Given the description of an element on the screen output the (x, y) to click on. 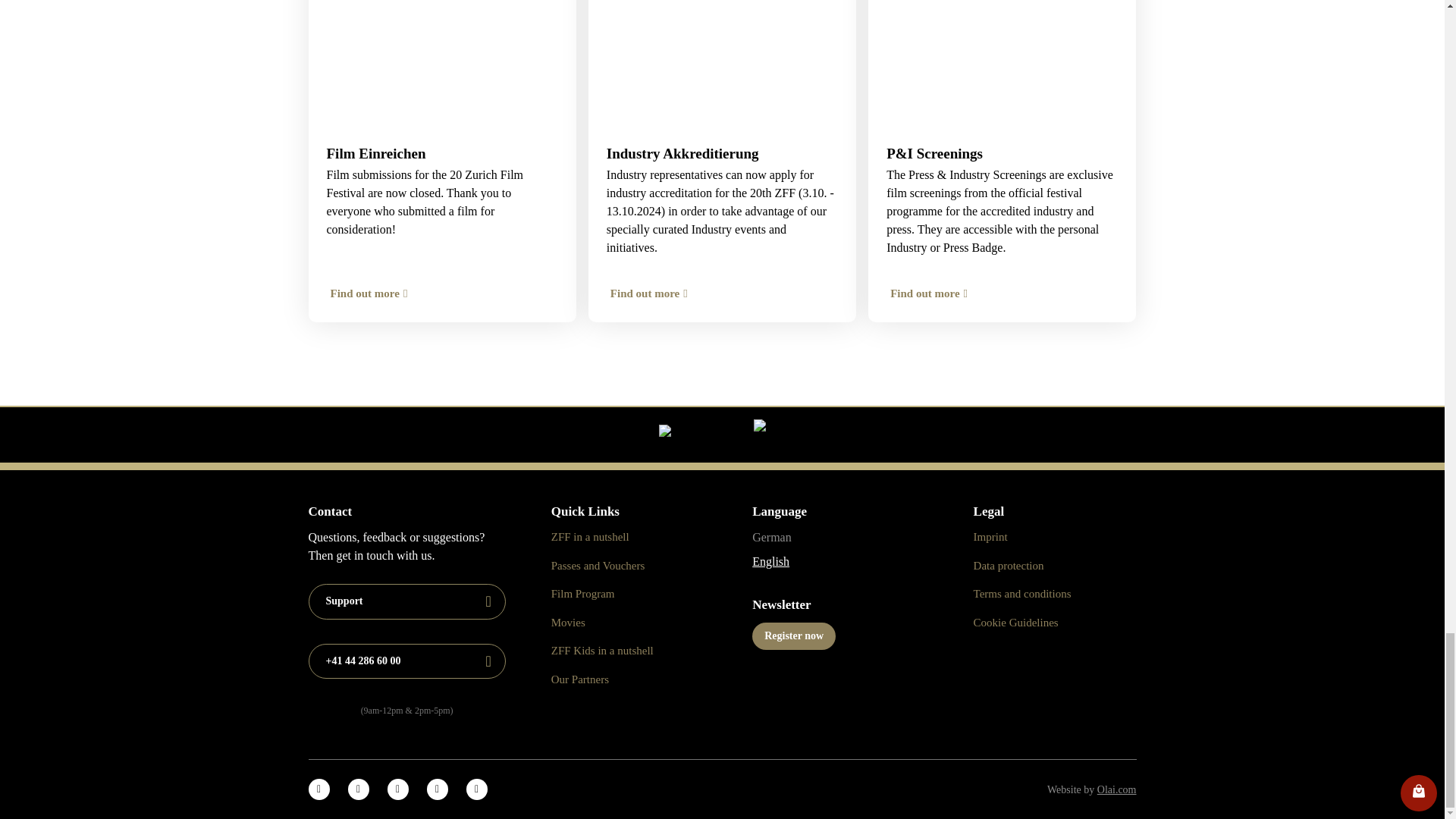
Linked in (397, 789)
YouTube (436, 789)
Instagram (475, 789)
Facebook (318, 789)
Twitter (357, 789)
